Given the description of an element on the screen output the (x, y) to click on. 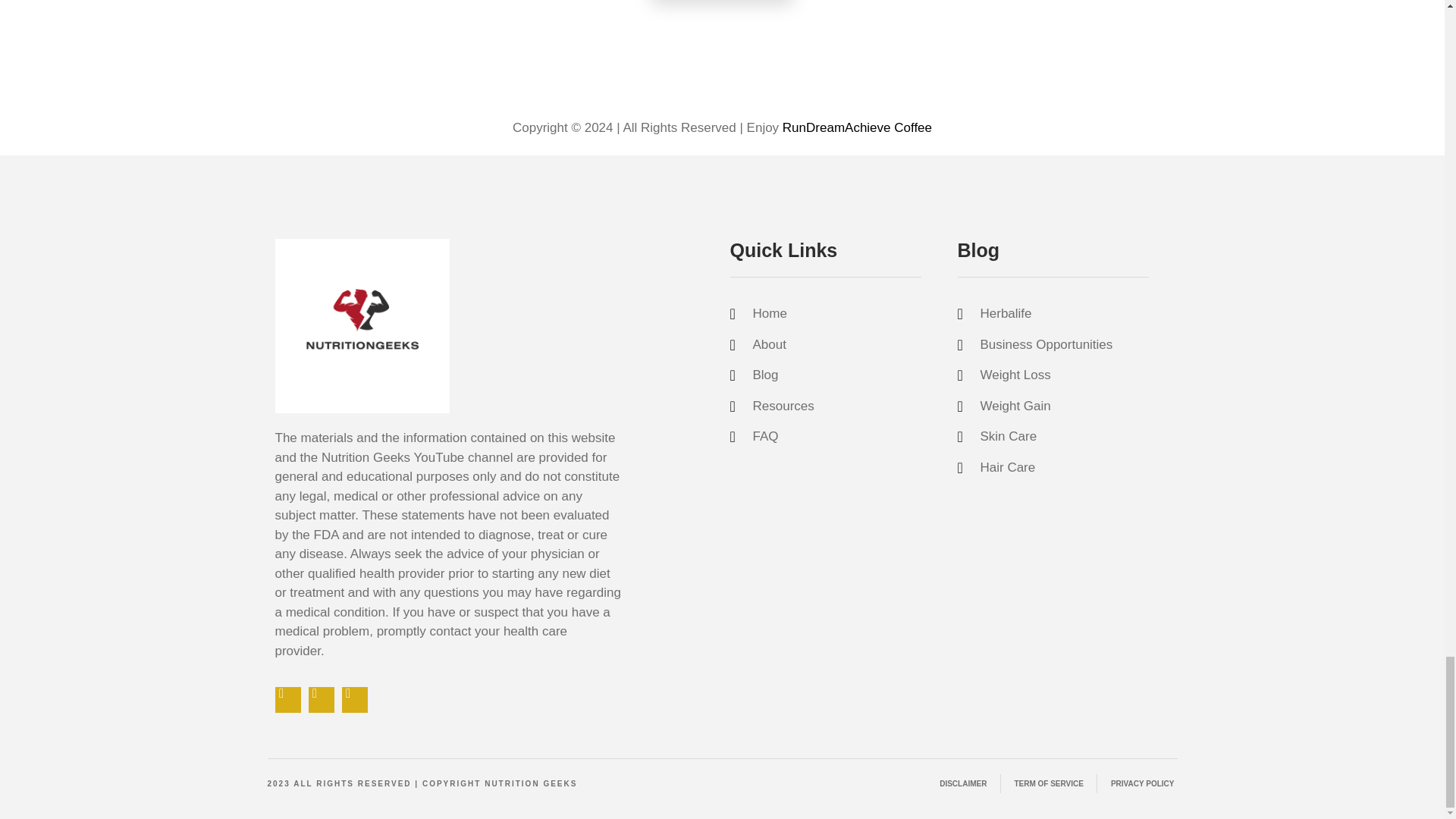
Resources (835, 406)
RunDreamAchieve Coffee (857, 127)
FAQ (835, 436)
About (835, 344)
Home (835, 313)
Blog (835, 374)
Herbalife (1062, 313)
